Given the description of an element on the screen output the (x, y) to click on. 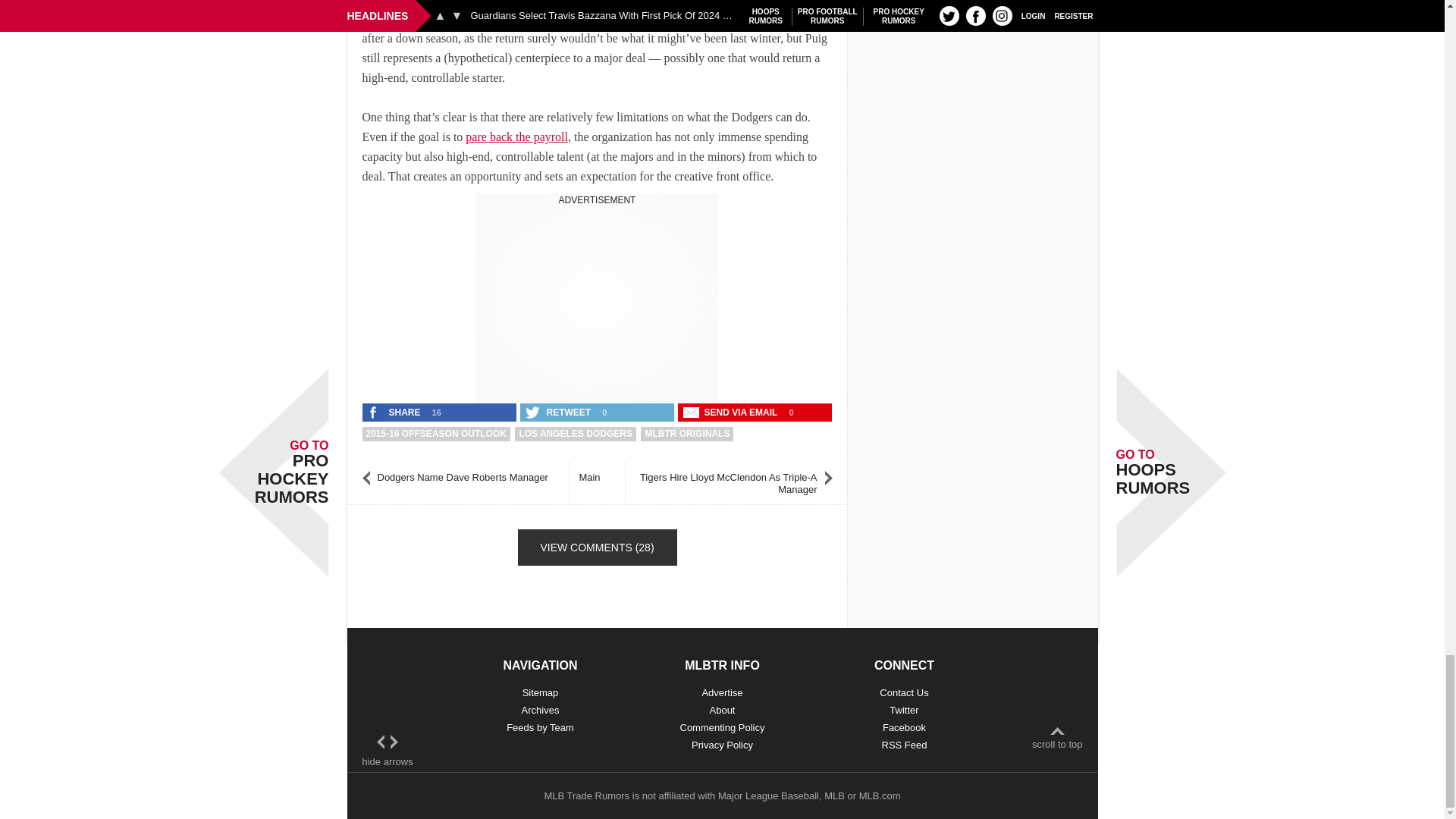
Retweet 'Offseason Outlook: Los Angeles Dodgers' on Twitter (558, 412)
3rd party ad content (597, 300)
Share 'Offseason Outlook: Los Angeles Dodgers' on Facebook (395, 412)
Send Offseason Outlook: Los Angeles Dodgers with an email (732, 412)
